Given the description of an element on the screen output the (x, y) to click on. 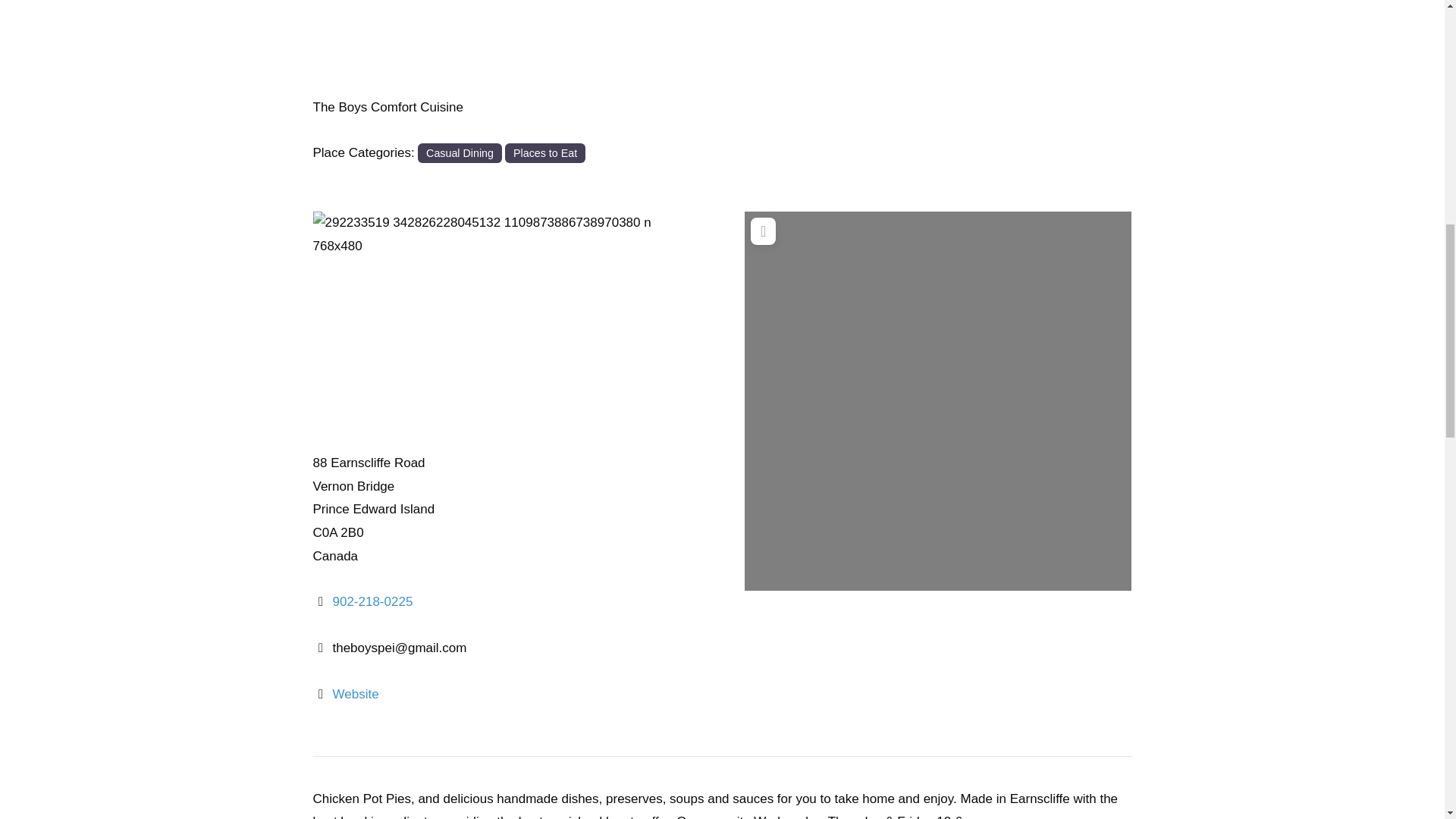
Casual Dining (458, 153)
Website (354, 694)
902-218-0225 (371, 601)
Places to Eat (545, 153)
